Given the description of an element on the screen output the (x, y) to click on. 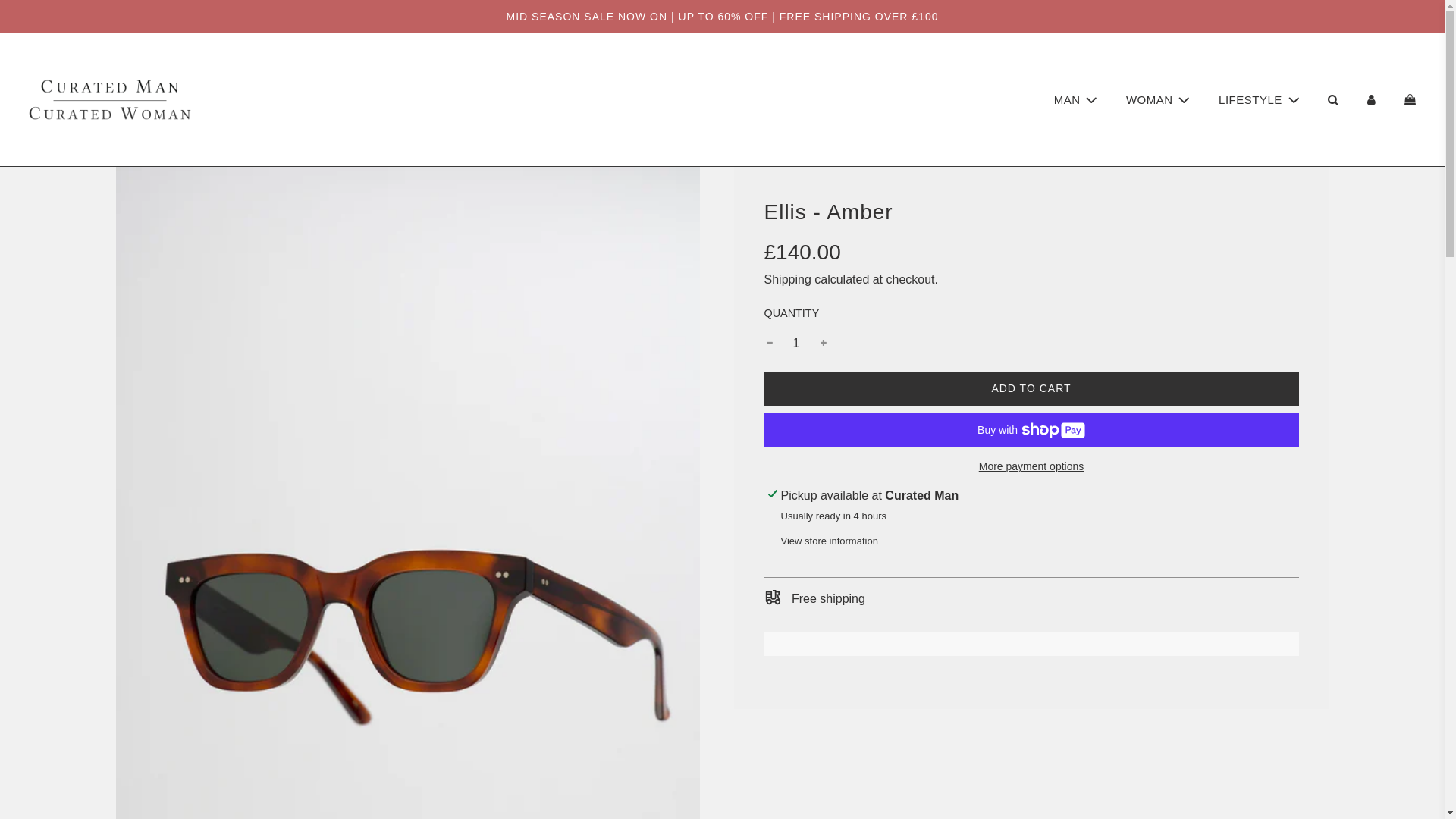
Log in (1371, 98)
1 (796, 343)
